Given the description of an element on the screen output the (x, y) to click on. 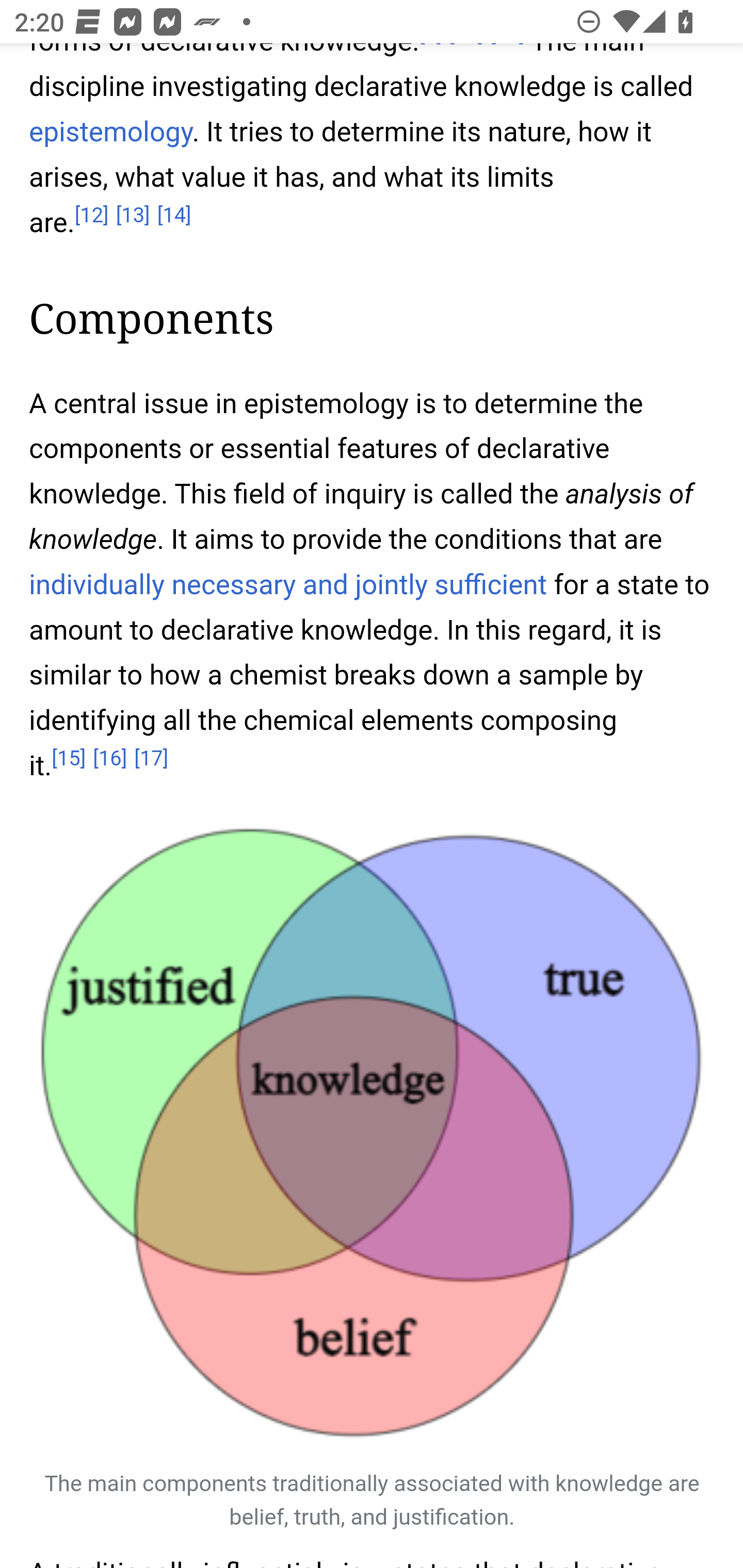
epistemology (110, 132)
[] [ 12 ] (91, 215)
[] [ 13 ] (133, 215)
[] [ 14 ] (174, 215)
individually necessary and jointly sufficient (288, 585)
[] [ 15 ] (68, 760)
[] [ 16 ] (109, 760)
[] [ 17 ] (151, 760)
Venn diagram of justified true belief (372, 1134)
